Given the description of an element on the screen output the (x, y) to click on. 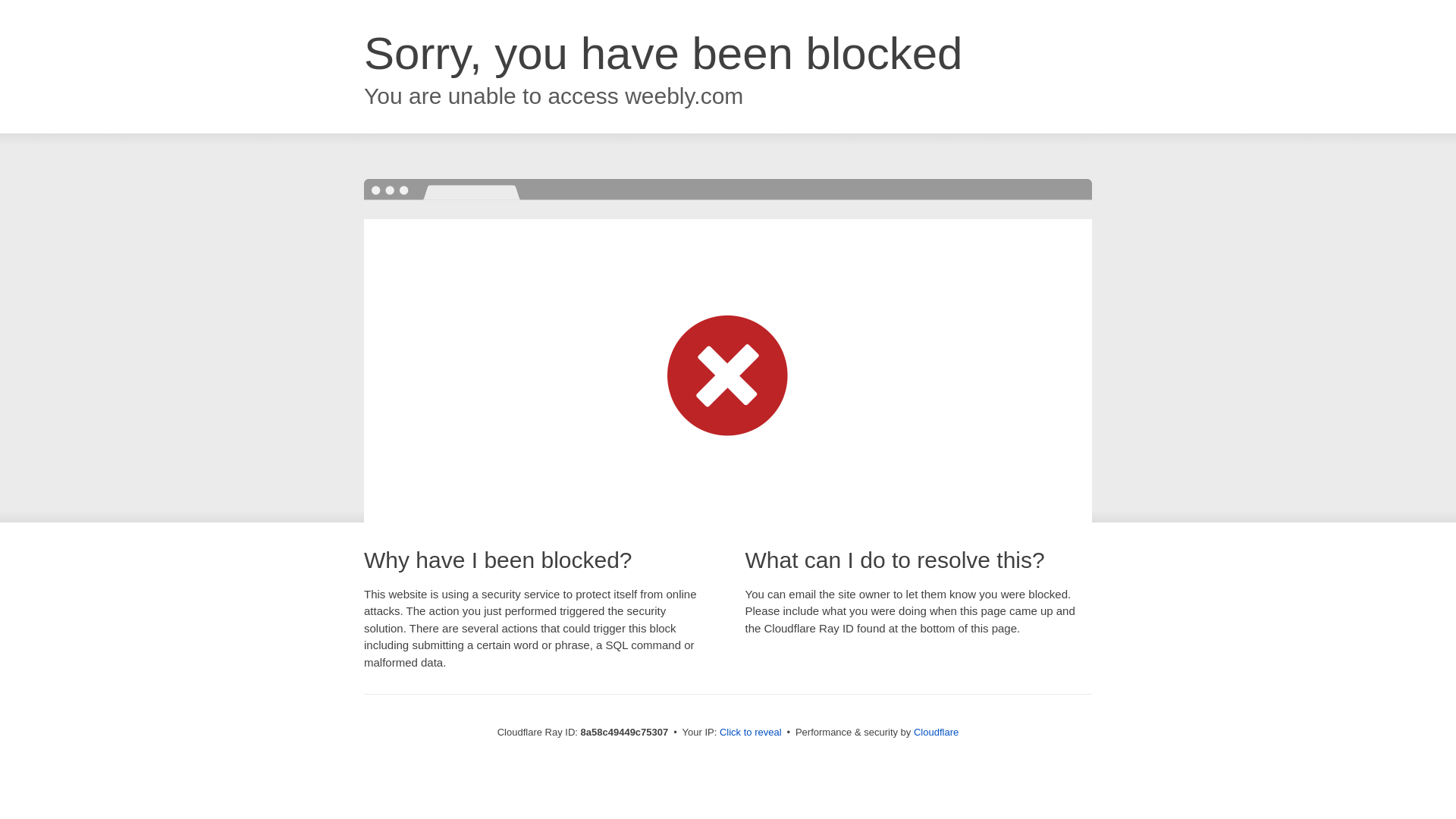
Cloudflare (936, 731)
Click to reveal (750, 732)
